Given the description of an element on the screen output the (x, y) to click on. 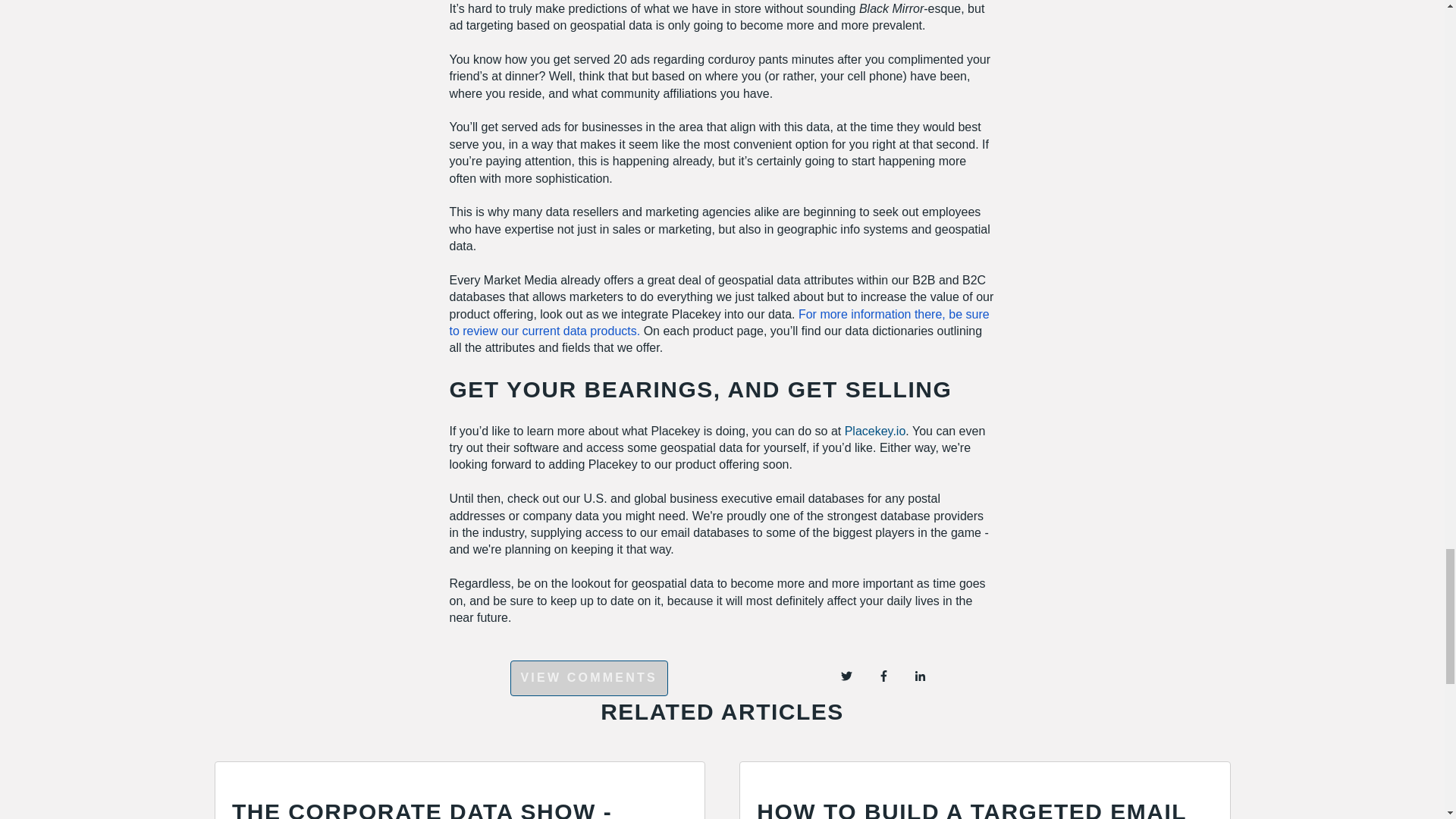
VIEW COMMENTS (587, 677)
Placekey.io (874, 431)
THE CORPORATE DATA SHOW - EPISODE 9 - MARK GODLEY - HG DATA (429, 809)
